Given the description of an element on the screen output the (x, y) to click on. 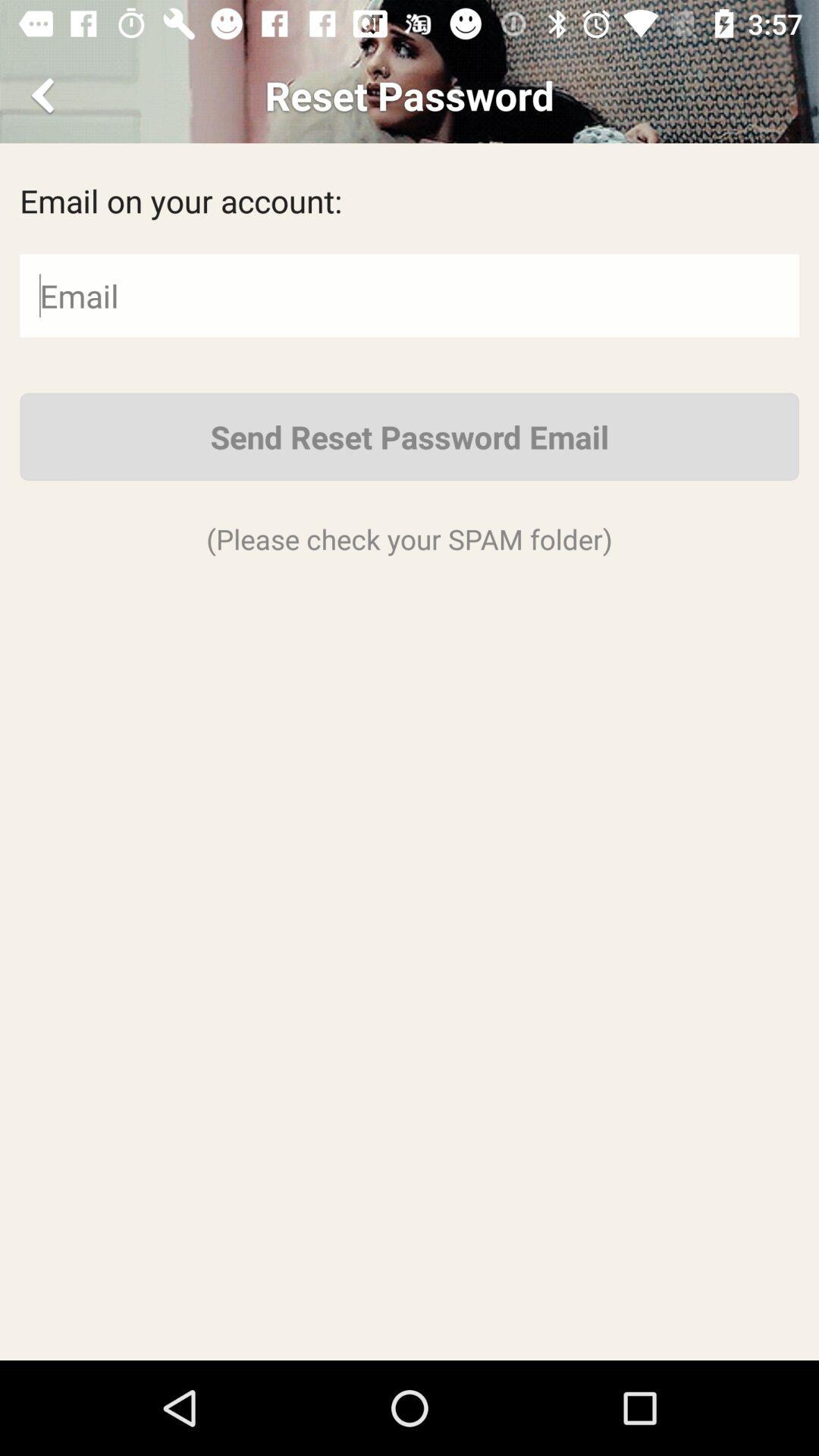
typing box (409, 295)
